Given the description of an element on the screen output the (x, y) to click on. 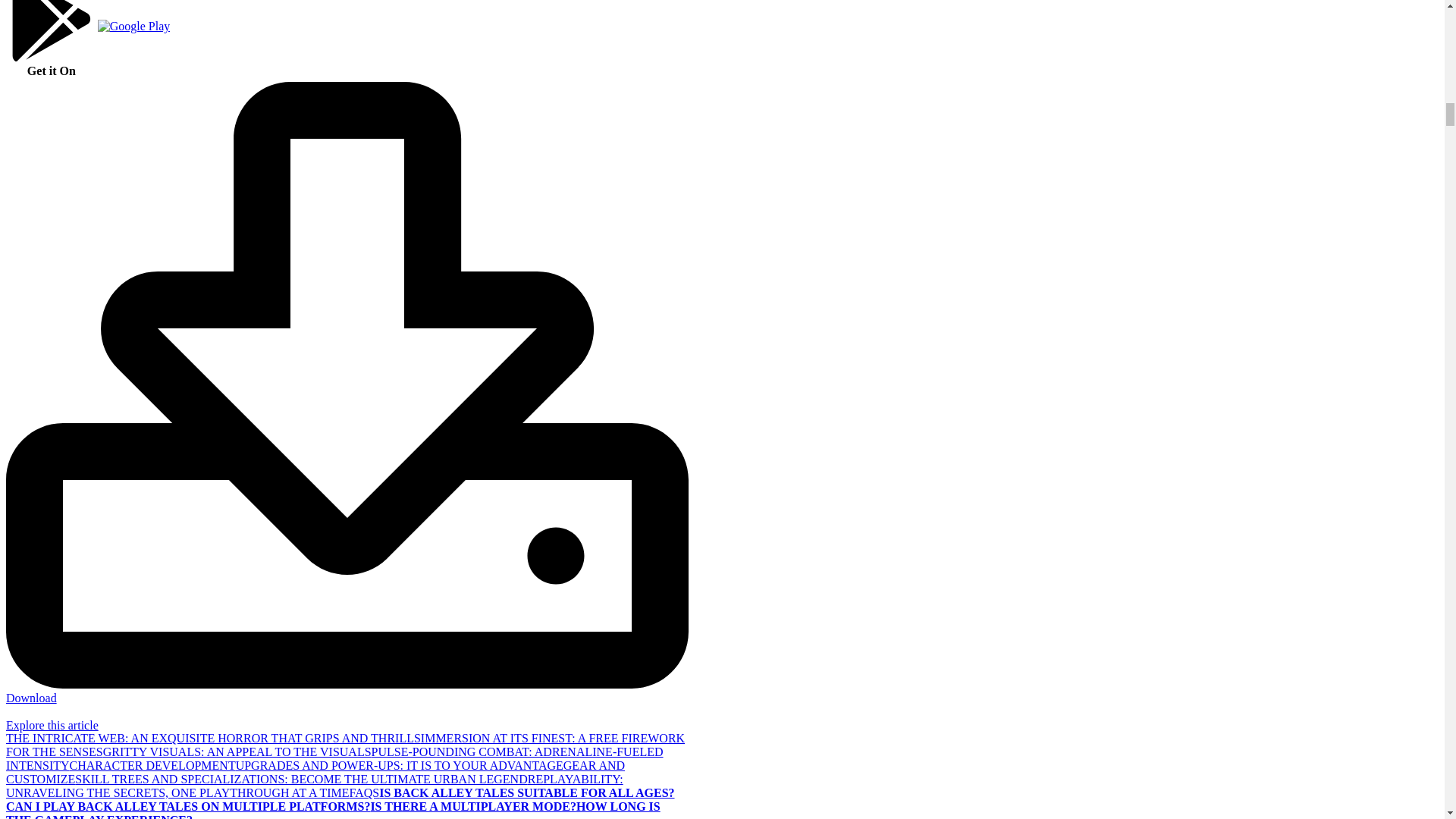
FAQS (363, 792)
HOW LONG IS THE GAMEPLAY EXPERIENCE? (333, 809)
IMMERSION AT ITS FINEST: A FREE FIREWORK FOR THE SENSES (344, 745)
CHARACTER DEVELOPMENT (152, 765)
CAN I PLAY BACK ALLEY TALES ON MULTIPLE PLATFORMS? (187, 806)
GRITTY VISUALS: AN APPEAL TO THE VISUALS (237, 751)
IS THERE A MULTIPLAYER MODE? (472, 806)
Explore this article (52, 725)
Download (346, 691)
IS BACK ALLEY TALES SUITABLE FOR ALL AGES? (526, 792)
